Given the description of an element on the screen output the (x, y) to click on. 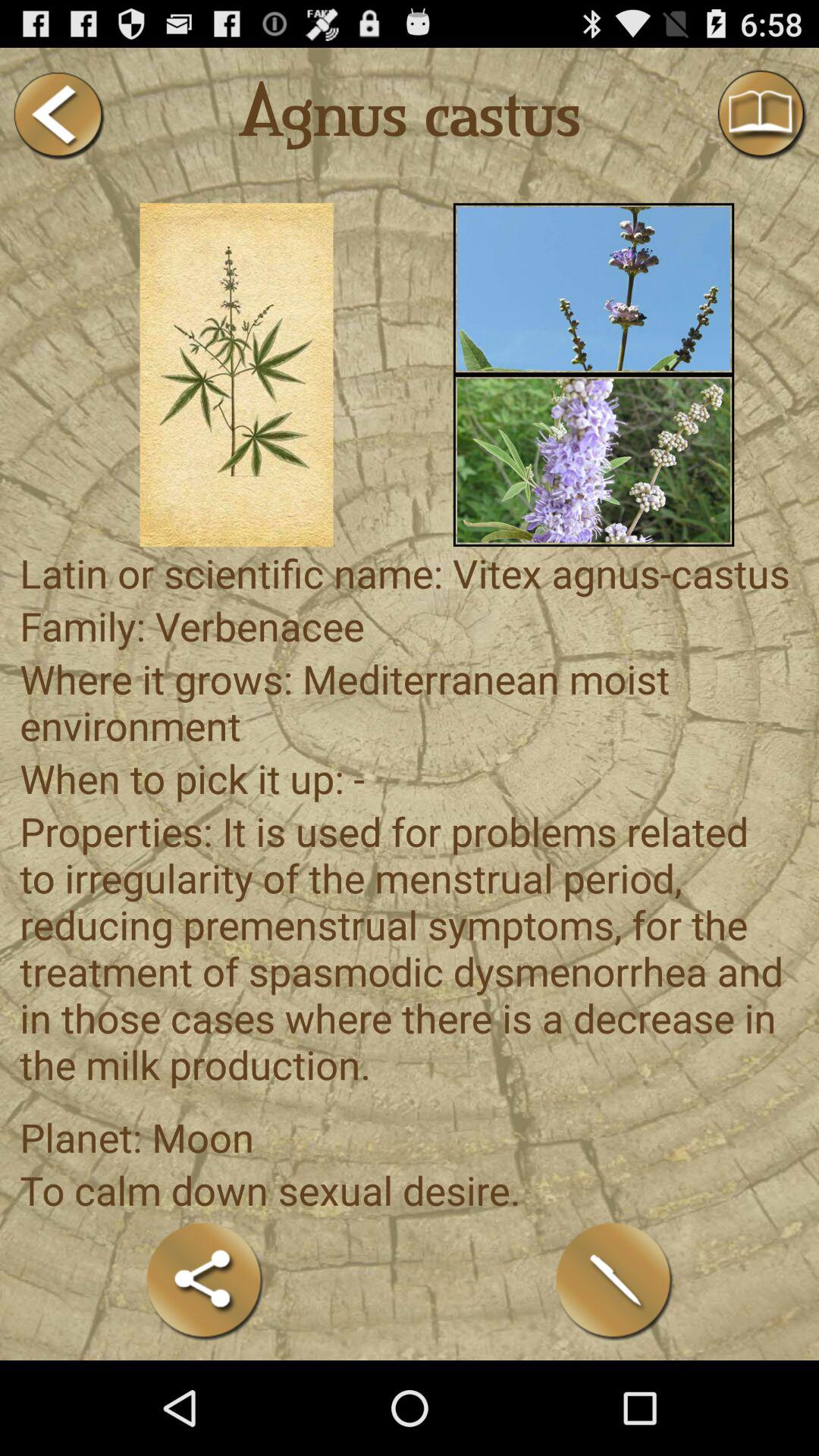
picture selection (236, 374)
